Given the description of an element on the screen output the (x, y) to click on. 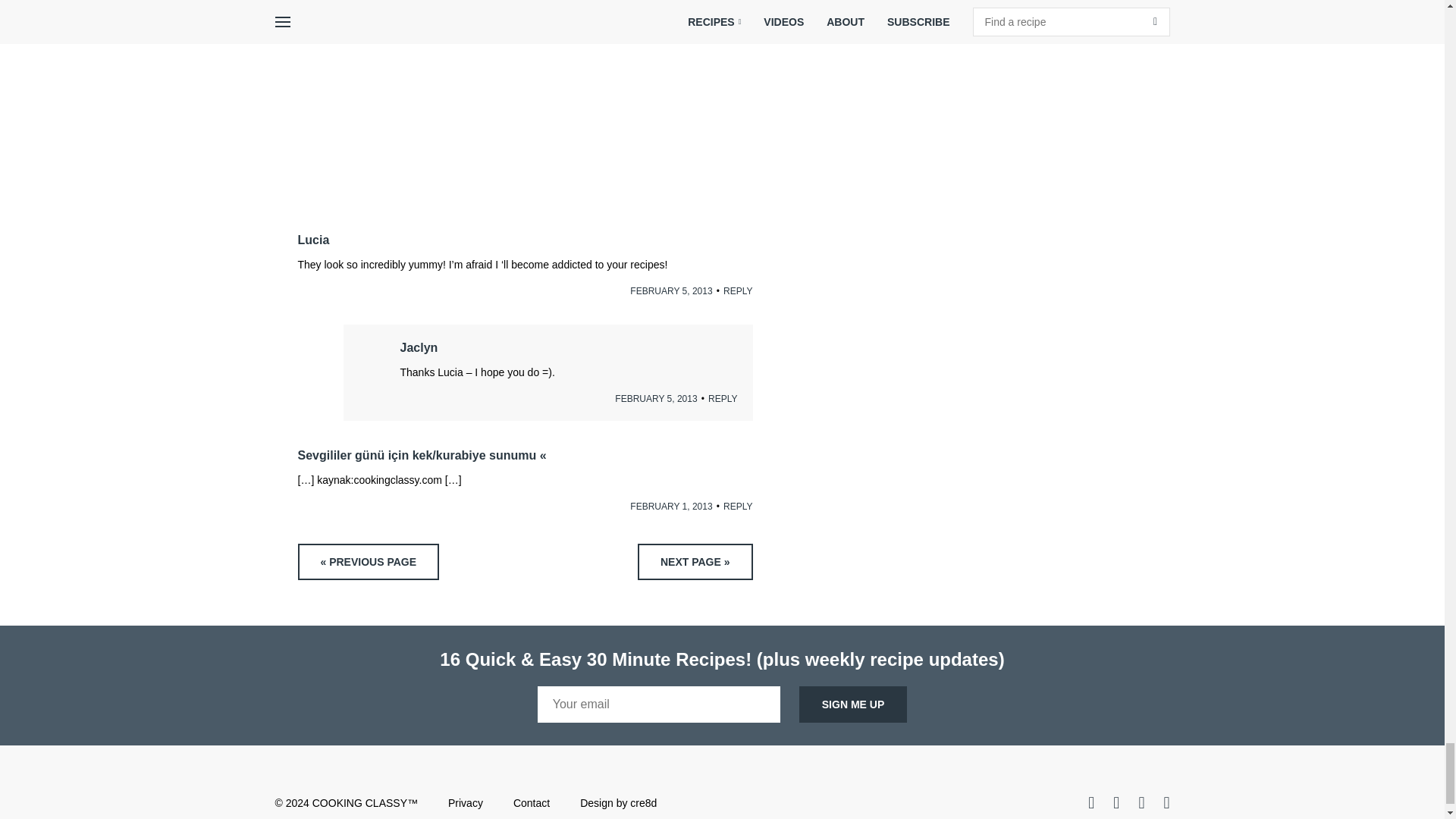
Sign Me Up (853, 704)
